Given the description of an element on the screen output the (x, y) to click on. 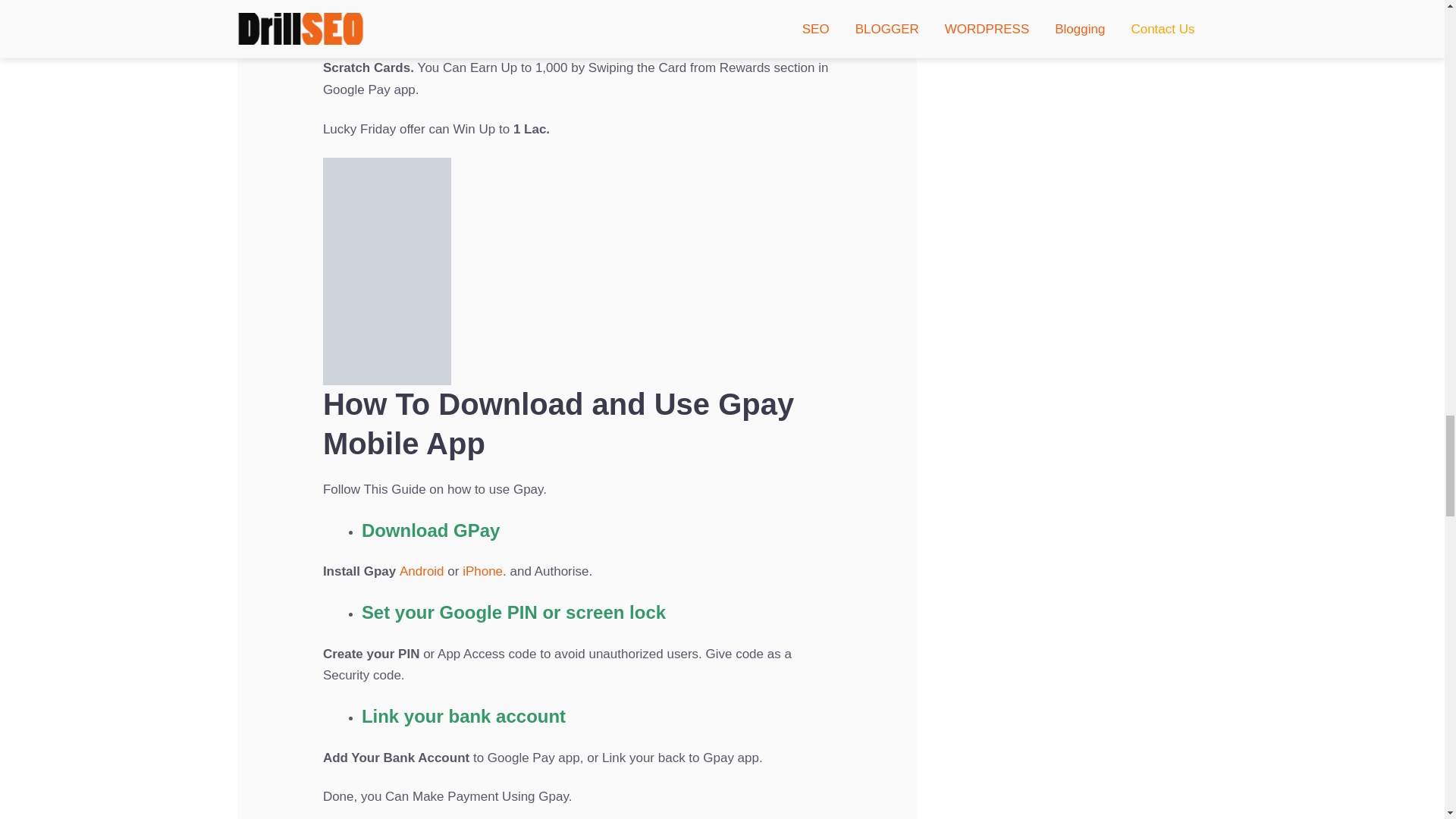
iPhone (482, 571)
Android (421, 571)
